Given the description of an element on the screen output the (x, y) to click on. 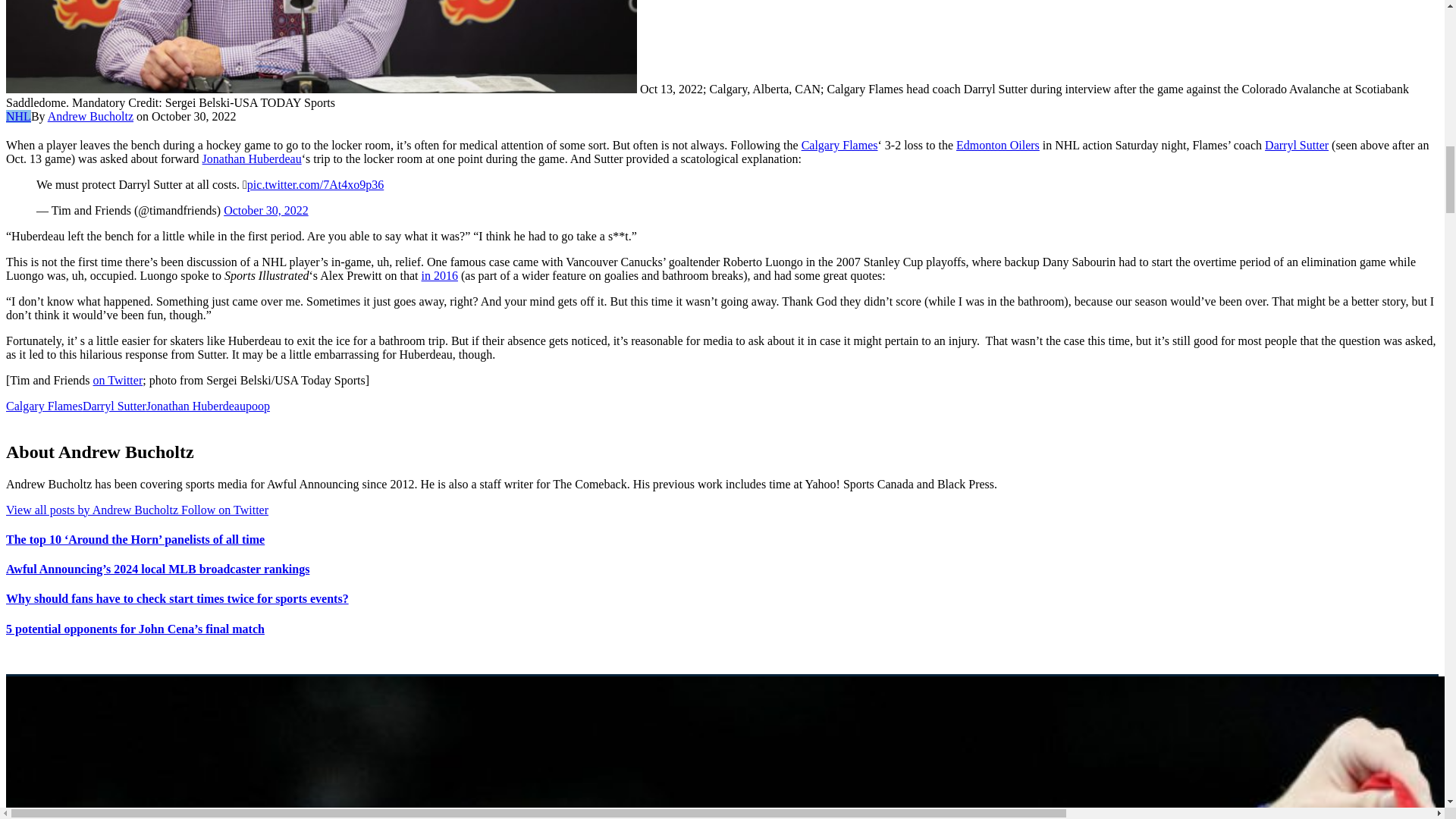
NHL (17, 115)
View all posts in NHL (17, 115)
